Given the description of an element on the screen output the (x, y) to click on. 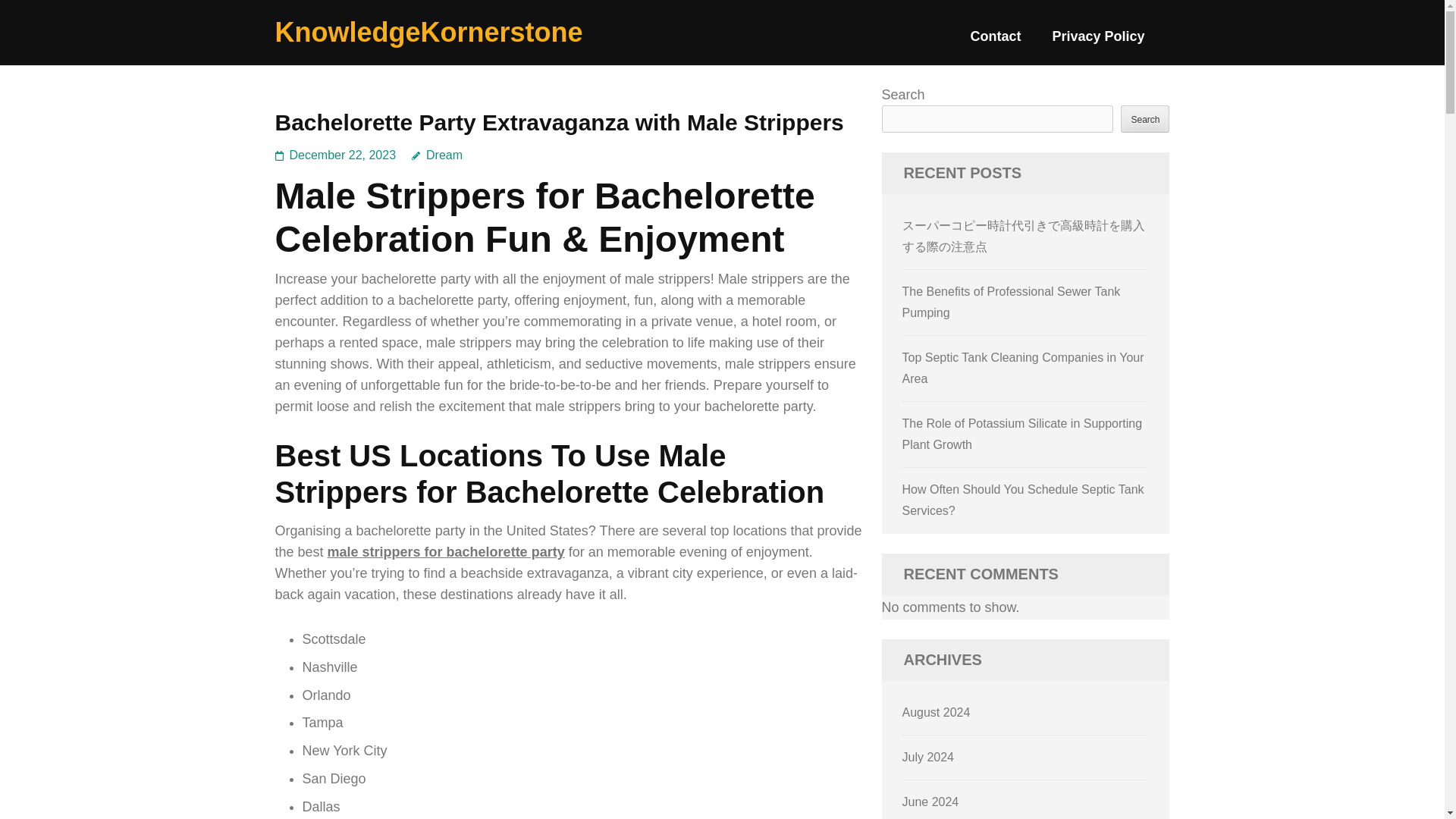
Contact (994, 42)
July 2024 (928, 757)
Privacy Policy (1097, 42)
December 22, 2023 (342, 154)
How Often Should You Schedule Septic Tank Services? (1023, 499)
Top Septic Tank Cleaning Companies in Your Area (1023, 367)
KnowledgeKornerstone (428, 31)
Search (1145, 118)
June 2024 (930, 801)
Dream (437, 154)
